Given the description of an element on the screen output the (x, y) to click on. 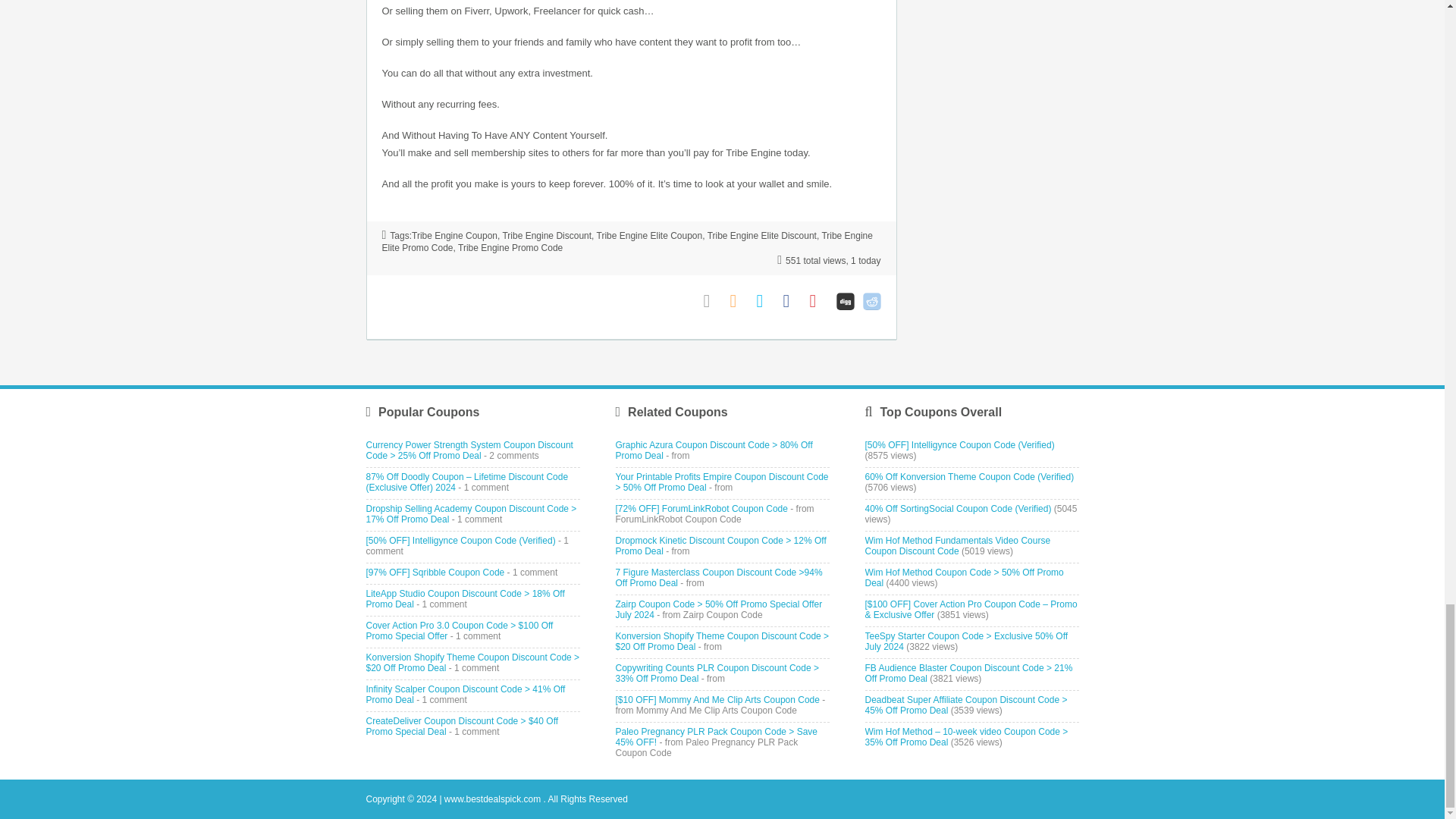
Facebook (791, 301)
Tribe Engine Elite Promo Code (626, 241)
Tribe Engine Elite Coupon (649, 235)
Tribe Engine Elite Discount (761, 235)
Reddit (871, 301)
Tribe Engine Discount (546, 235)
Tribe Engine Promo Code (510, 247)
Tribe Engine Coupon (454, 235)
Coupon Comments RSS (738, 301)
Email to Friend (712, 301)
Pinterest (818, 301)
Digg (844, 301)
Twitter (765, 301)
